Given the description of an element on the screen output the (x, y) to click on. 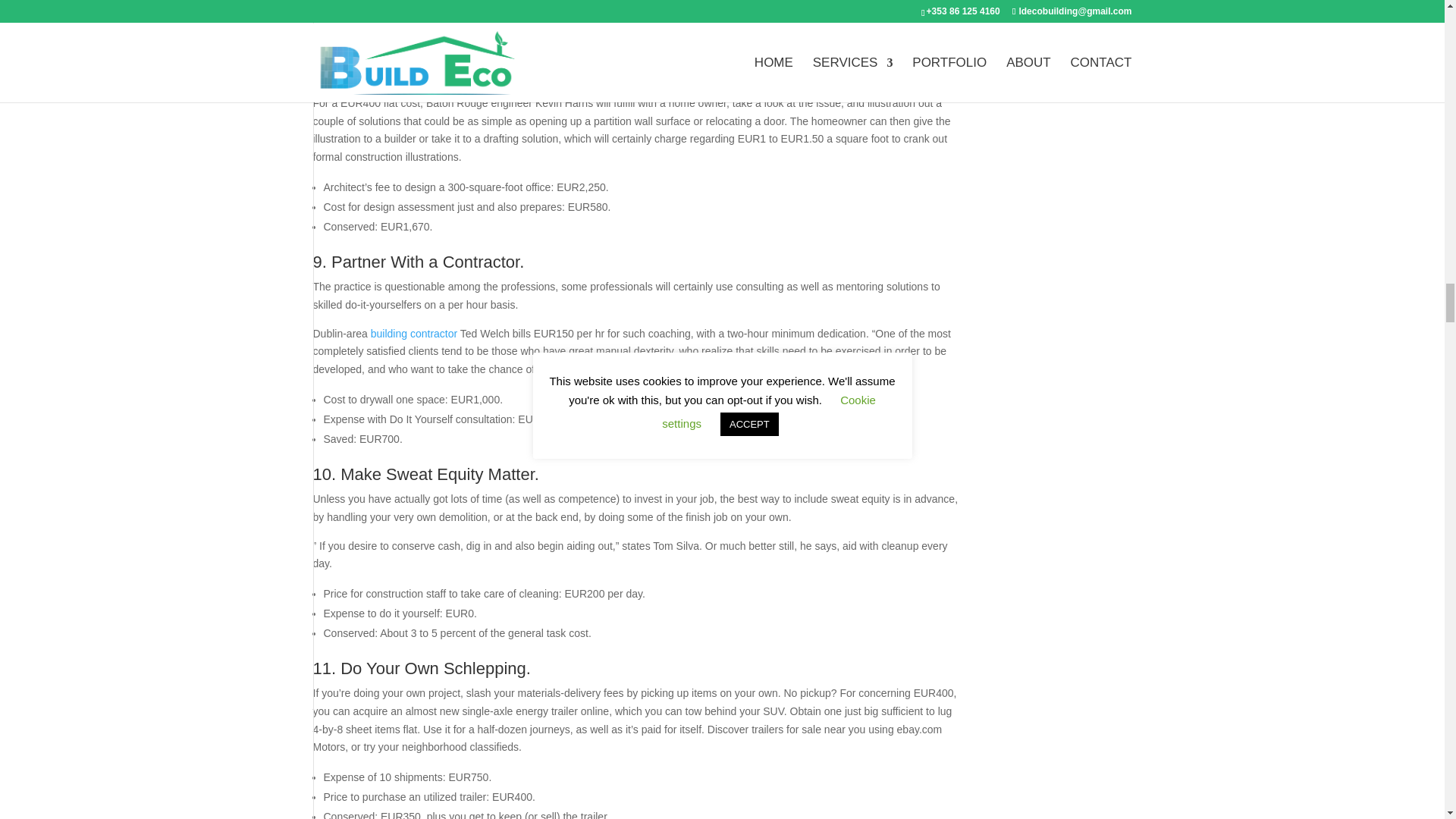
building contractor (414, 333)
